Given the description of an element on the screen output the (x, y) to click on. 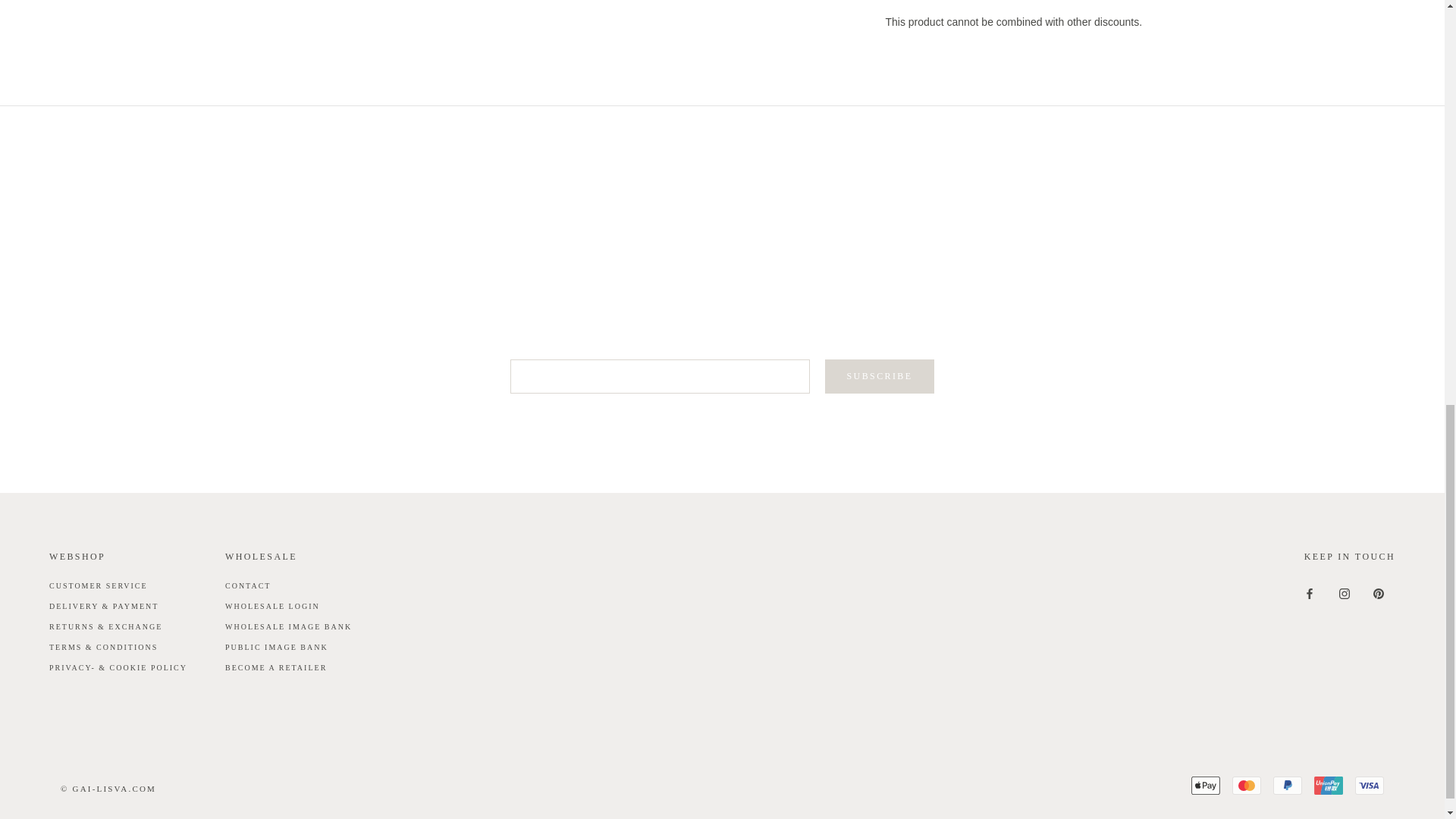
Apple Pay (1205, 785)
Visa (1369, 785)
PayPal (1286, 785)
Union Pay (1328, 785)
Mastercard (1245, 785)
